Given the description of an element on the screen output the (x, y) to click on. 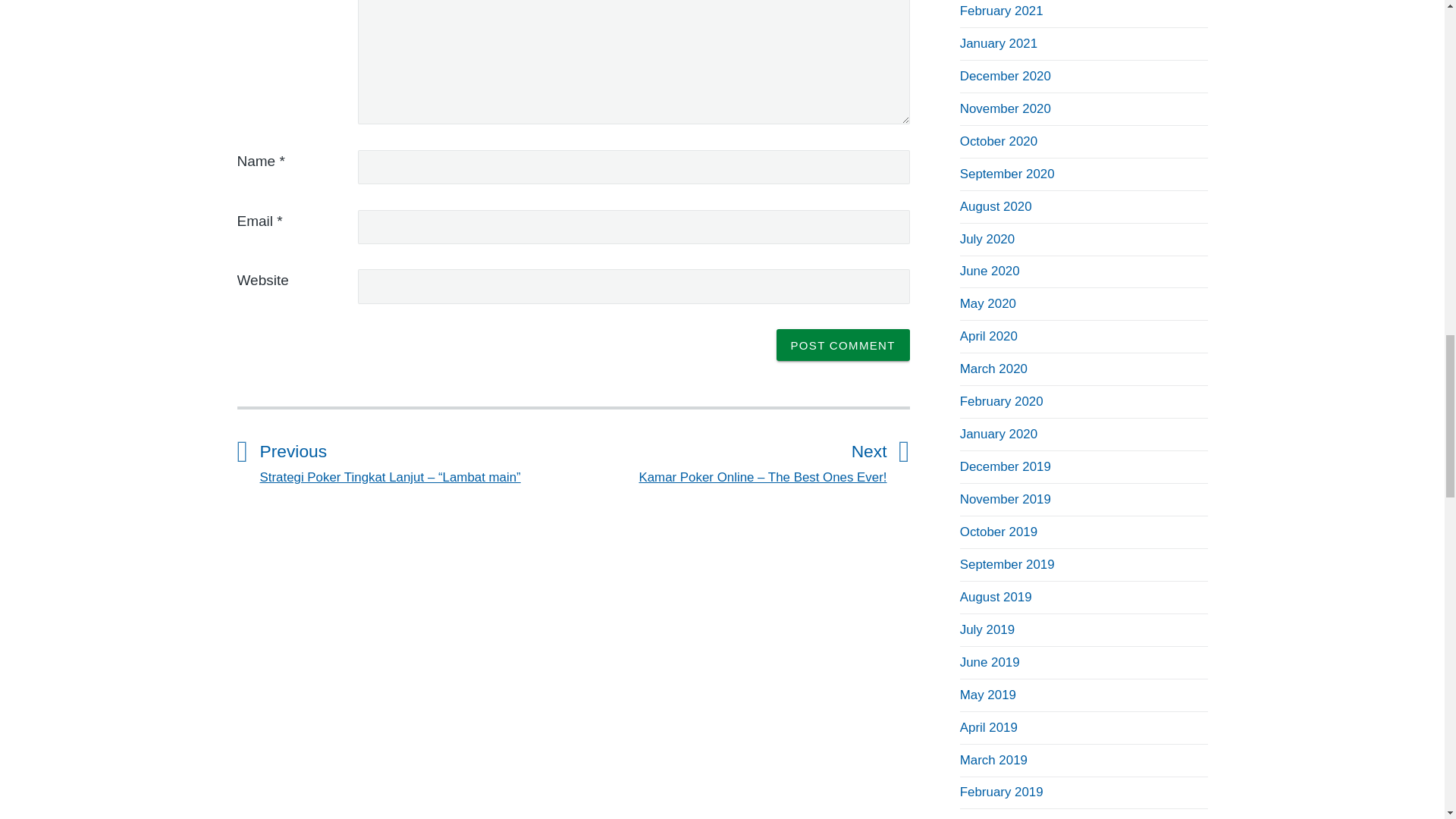
Post Comment (843, 345)
Post Comment (843, 345)
